Given the description of an element on the screen output the (x, y) to click on. 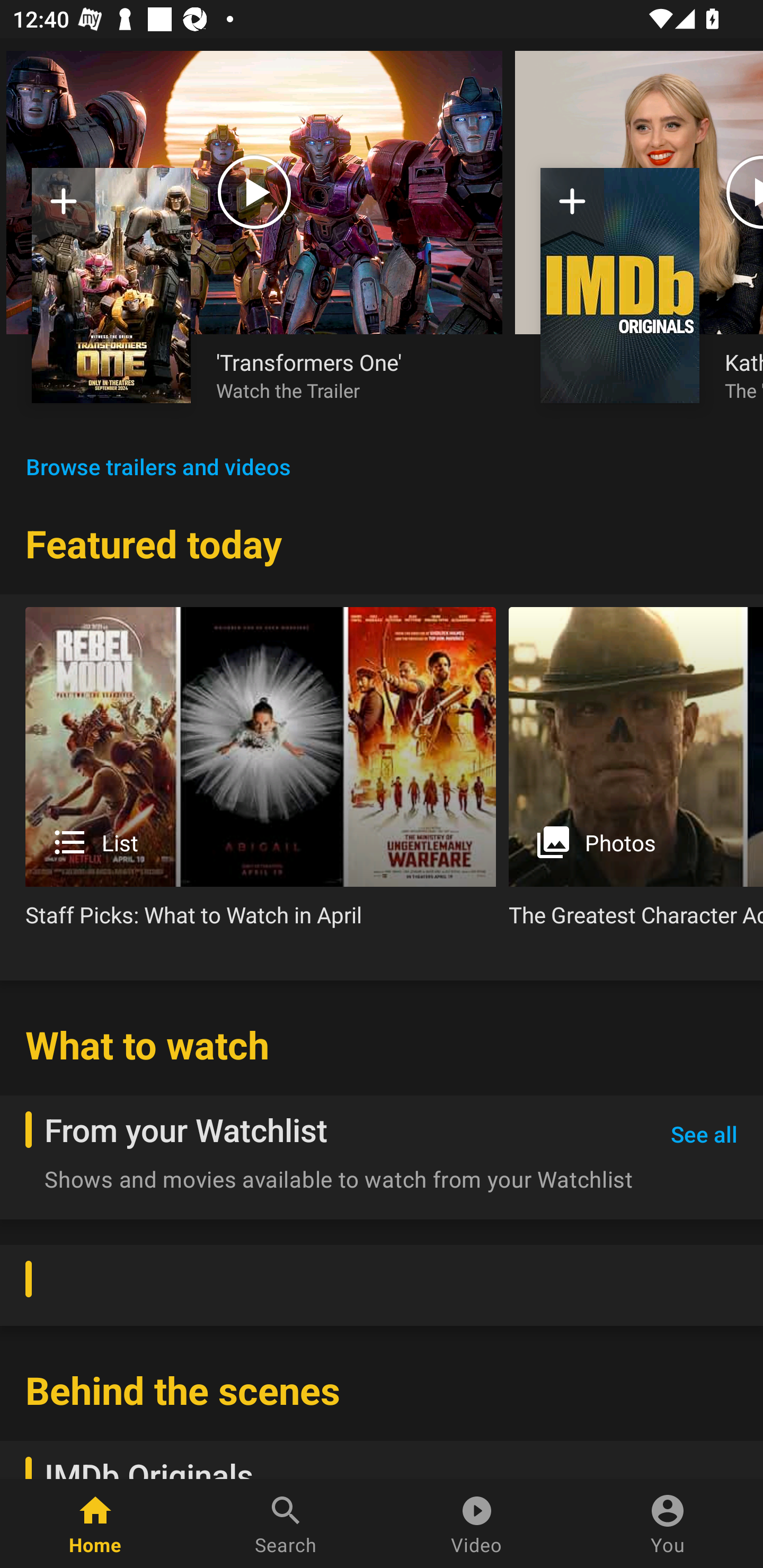
Not in watchlist (111, 284)
Not in watchlist (63, 207)
Not in watchlist (619, 284)
Not in watchlist (572, 207)
'Transformers One' Watch the Trailer (345, 374)
List Staff Picks: What to Watch in April (260, 774)
Photos The Greatest Character Actors of All Time (635, 774)
See all See all From your Watchlist (703, 1134)
Search (285, 1523)
Video (476, 1523)
You (667, 1523)
